Given the description of an element on the screen output the (x, y) to click on. 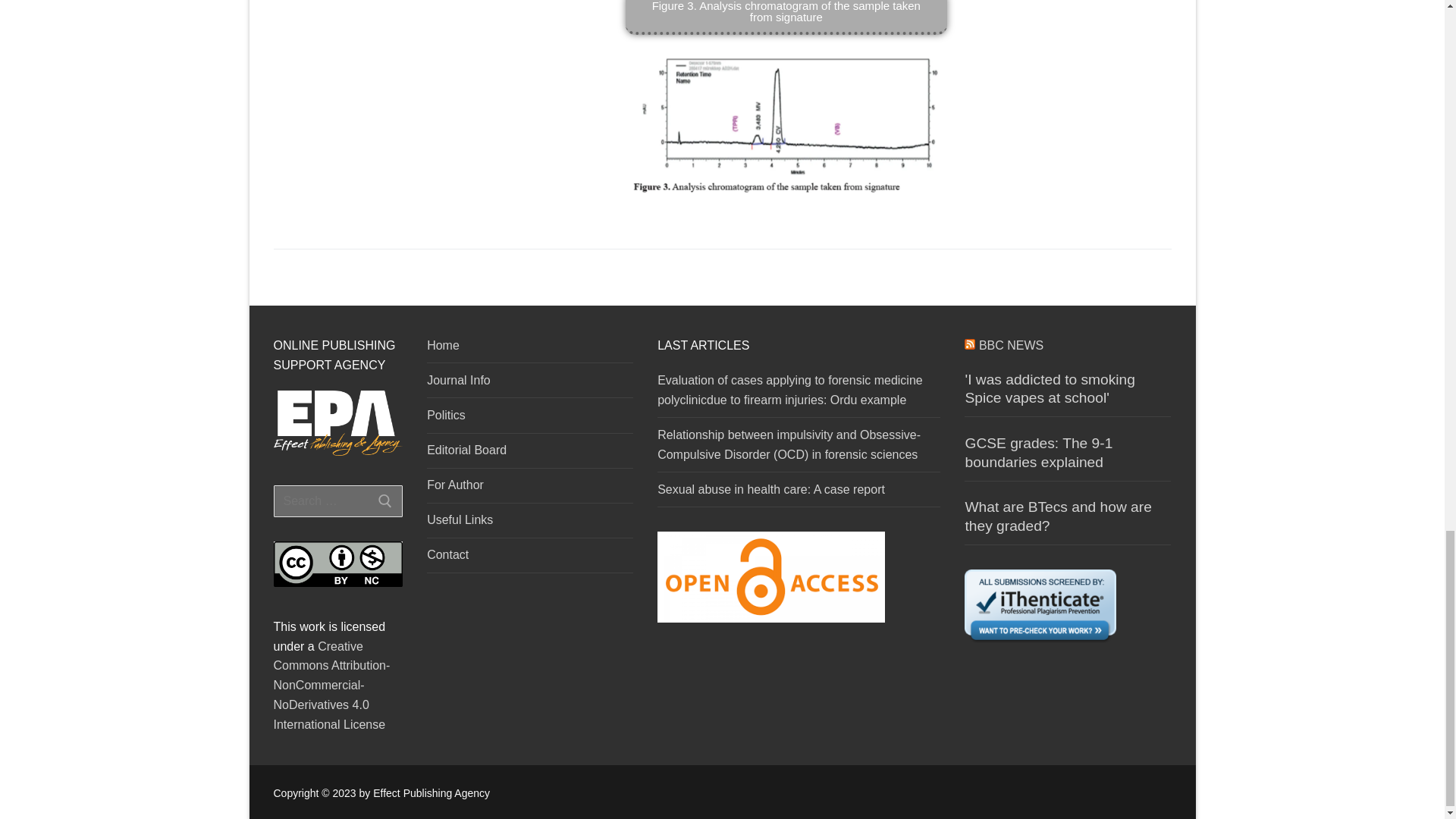
Politics (529, 419)
For Author (529, 488)
Arama: (338, 500)
Contact (529, 558)
Useful Links (529, 523)
Editorial Board (529, 453)
Journal Info (529, 384)
Home (529, 349)
